Given the description of an element on the screen output the (x, y) to click on. 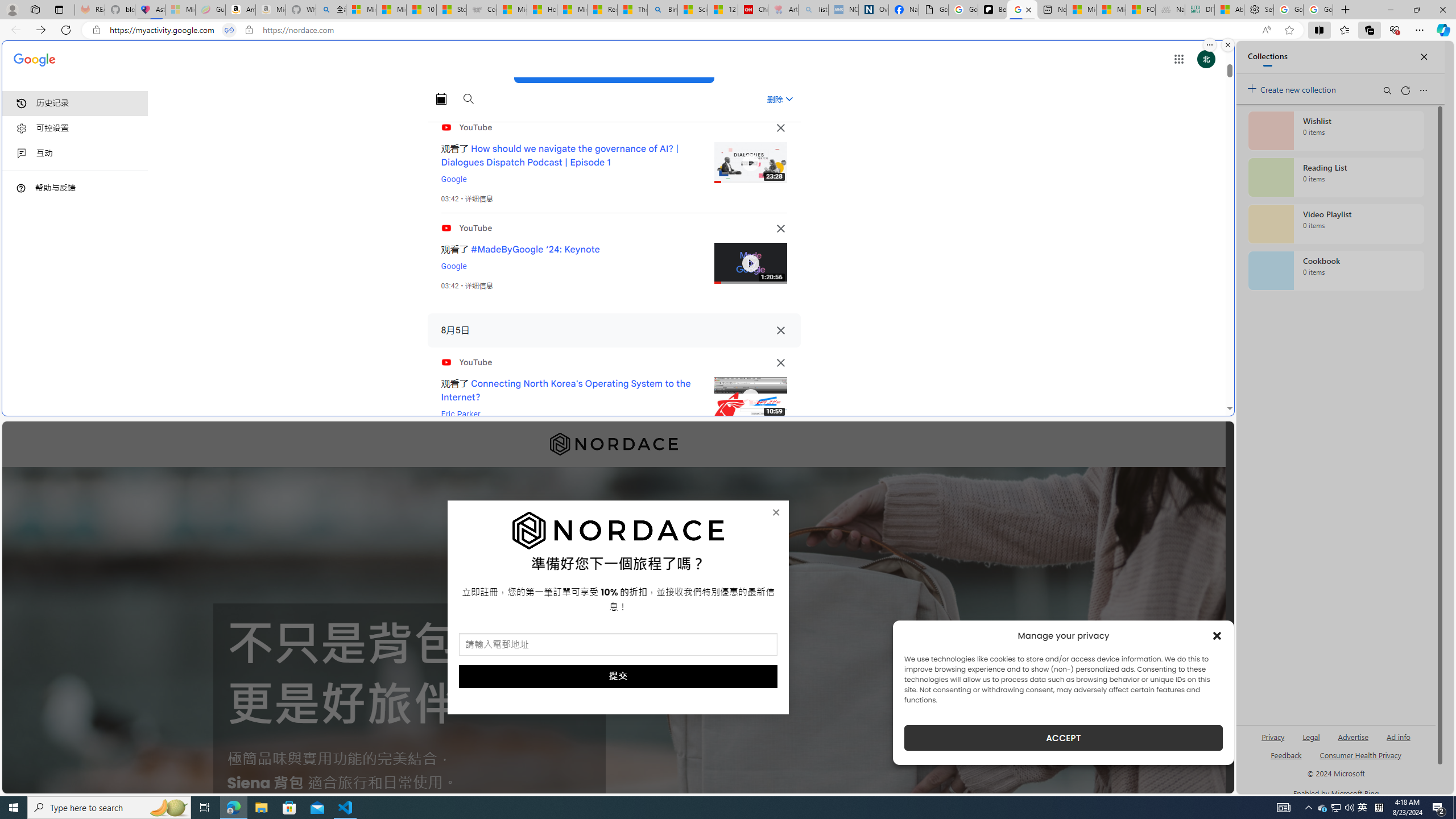
AutomationID: input_5_1 (617, 644)
Google Analytics Opt-out Browser Add-on Download Page (933, 9)
